Given the description of an element on the screen output the (x, y) to click on. 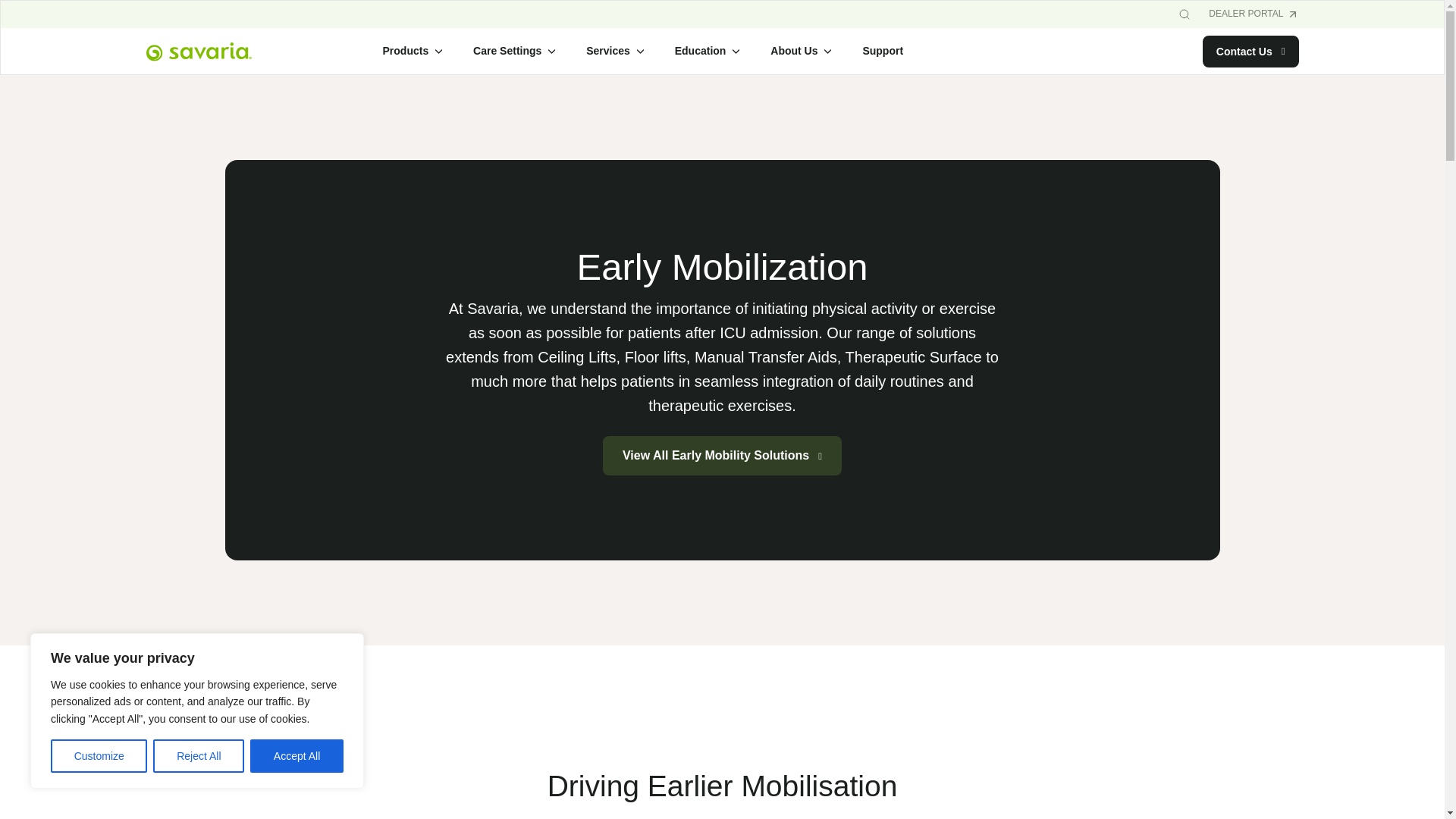
Accept All (296, 756)
Care Settings (514, 50)
DEALER PORTAL (1253, 14)
Services (614, 50)
Savaria Logo (197, 51)
Reject All (198, 756)
Products (411, 50)
Customize (98, 756)
